Given the description of an element on the screen output the (x, y) to click on. 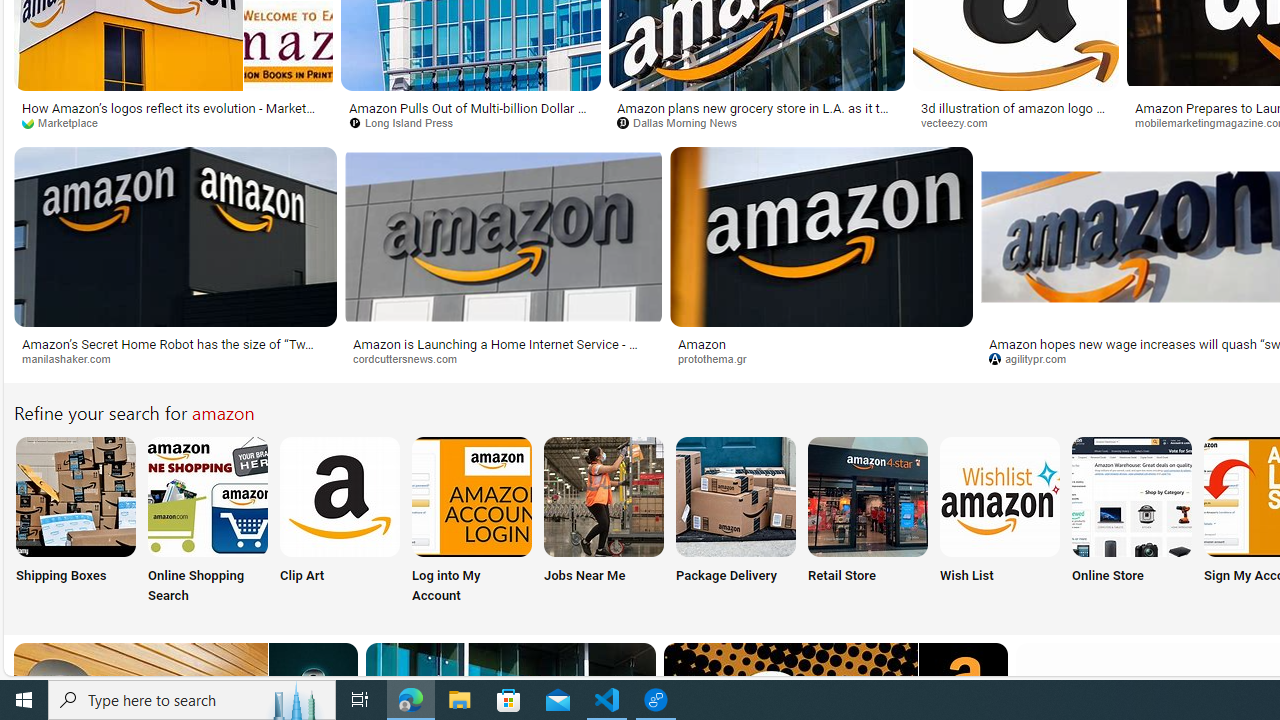
Image result for amazon (820, 236)
Retail Store (867, 521)
cordcuttersnews.com (412, 358)
Amazon Wish List (999, 496)
3d illustration of amazon logo 18779928 PNG (1015, 114)
Amazon Online Store Online Store (1131, 521)
Amazonprotothema.grSave (824, 260)
Jobs Near Me (604, 521)
Amazon Jobs Near Me (604, 496)
